Given the description of an element on the screen output the (x, y) to click on. 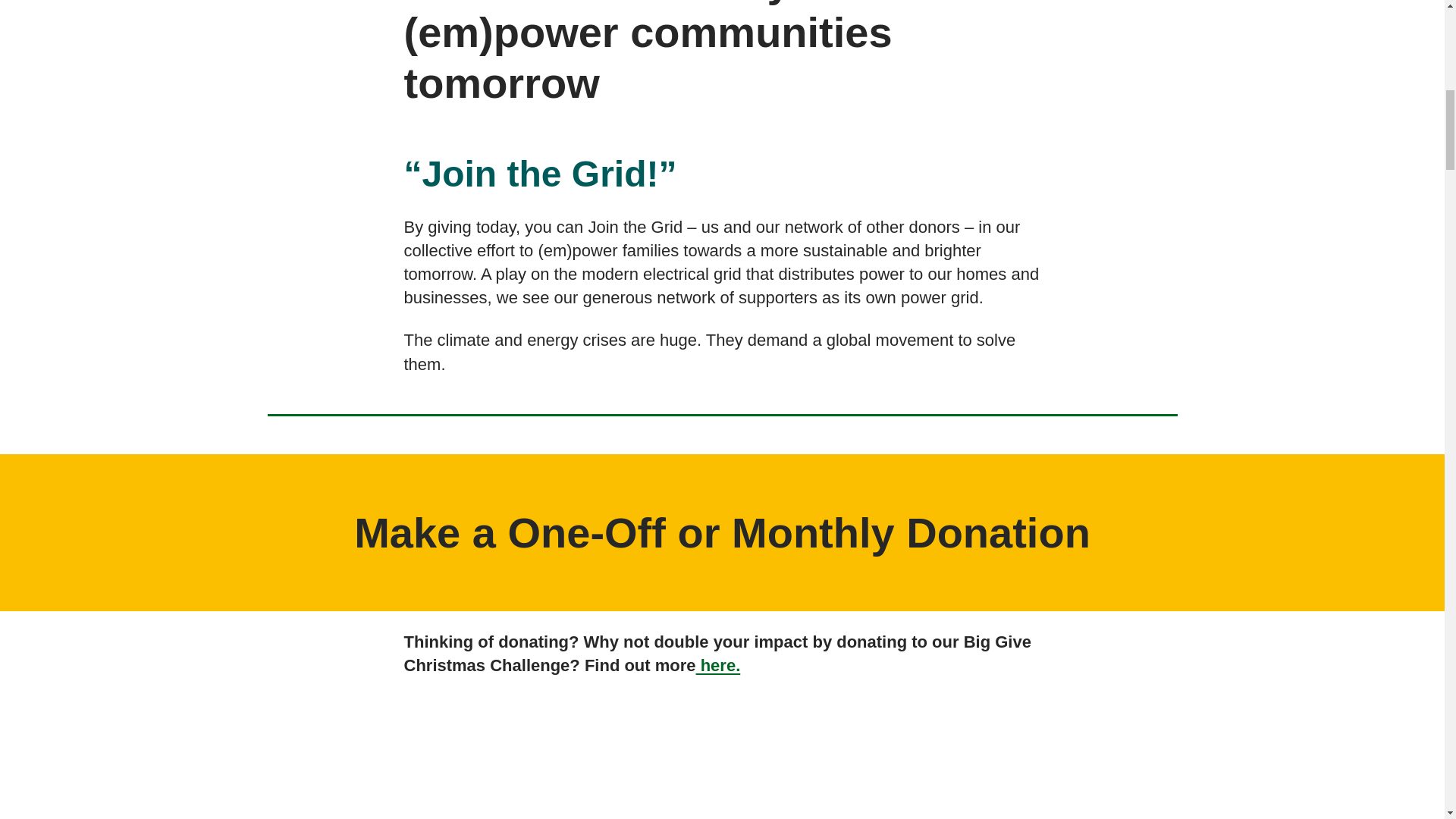
here. (718, 665)
